Given the description of an element on the screen output the (x, y) to click on. 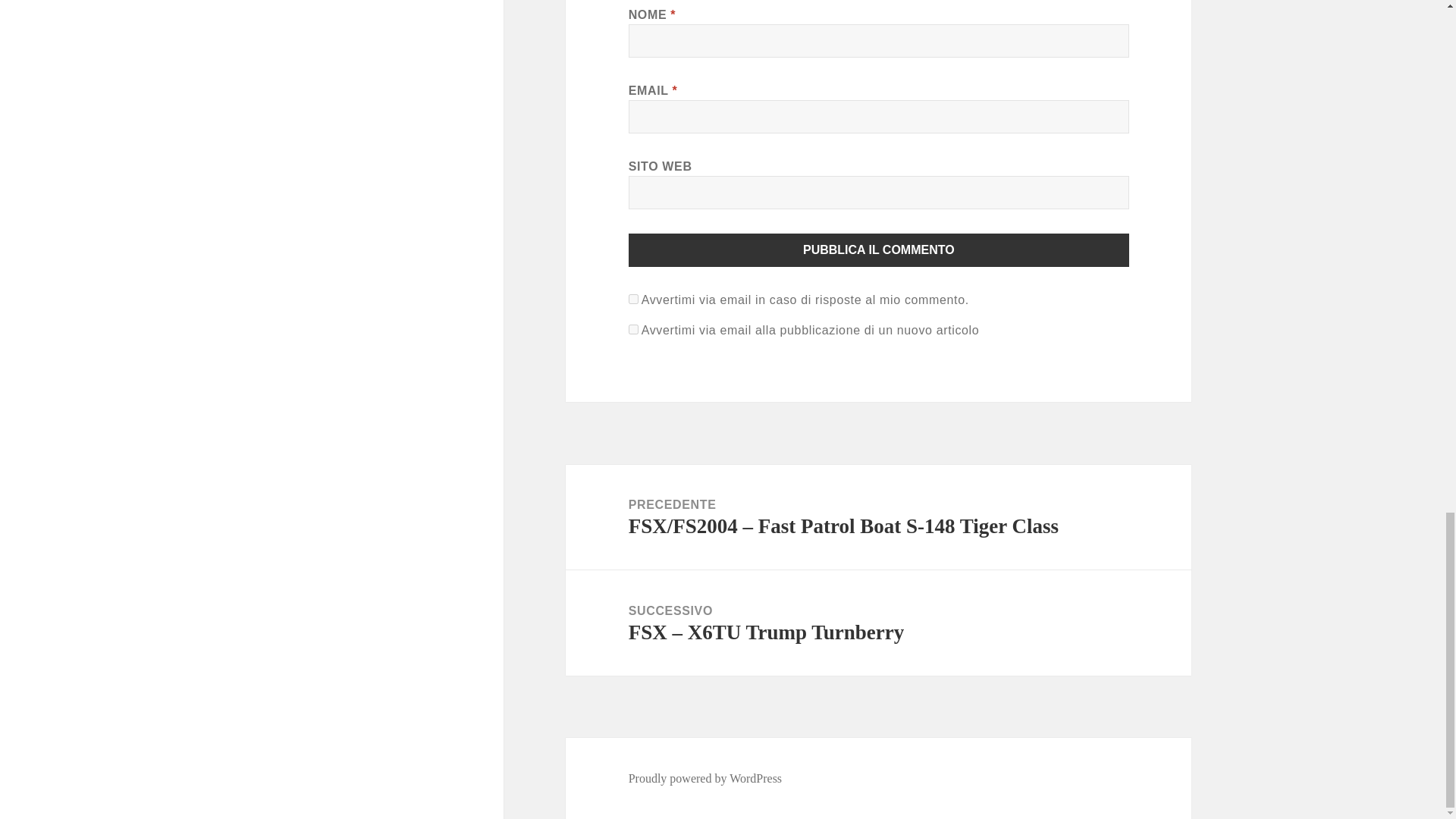
Pubblica il commento (878, 249)
subscribe (633, 329)
subscribe (633, 298)
Pubblica il commento (878, 249)
Proudly powered by WordPress (704, 778)
